Given the description of an element on the screen output the (x, y) to click on. 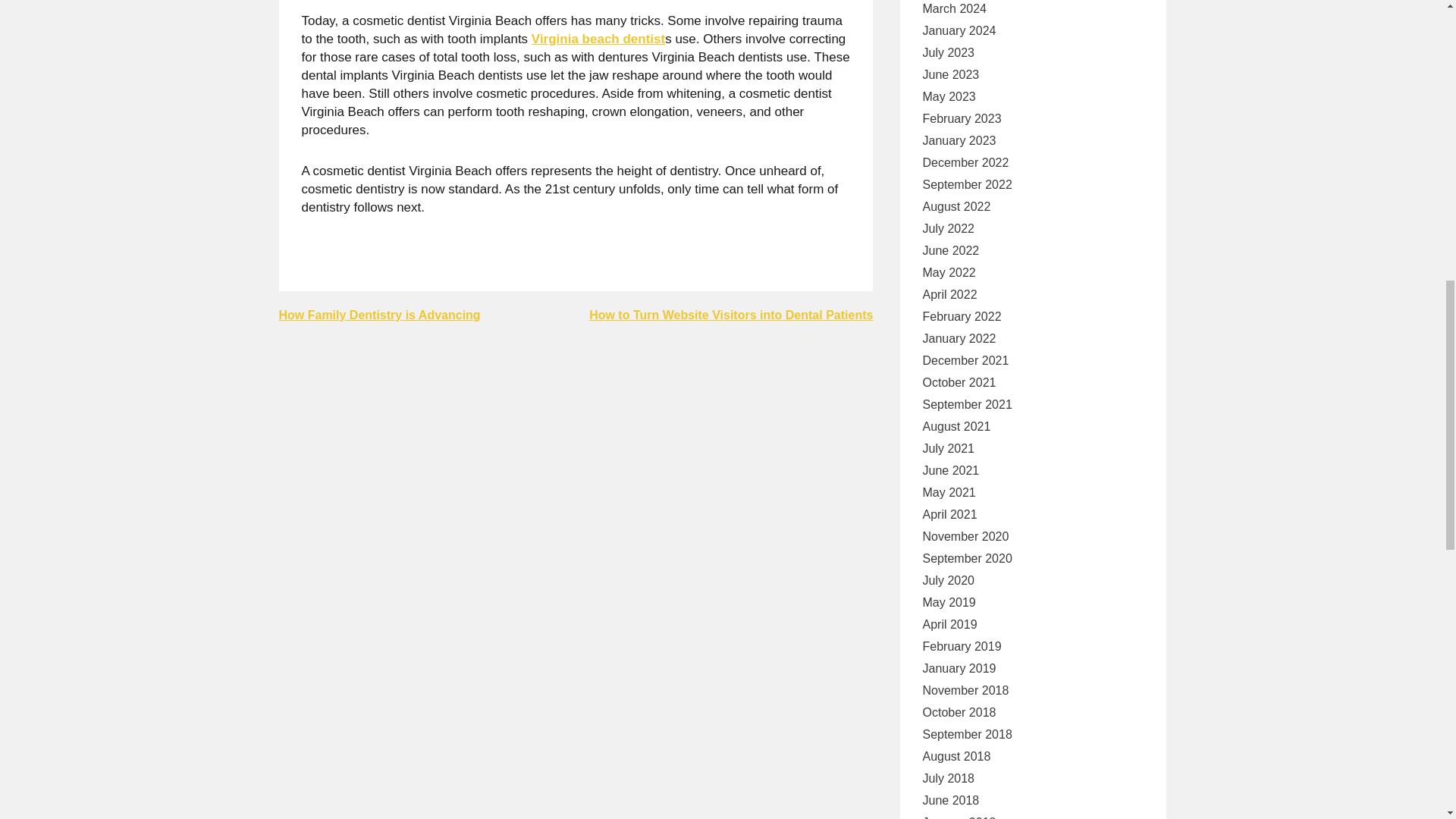
July 2023 (947, 53)
January 2022 (958, 339)
August 2022 (955, 207)
July 2022 (947, 229)
March 2024 (954, 9)
September 2022 (966, 185)
June 2022 (949, 250)
Tooth implants virginia beach (598, 38)
May 2023 (948, 96)
How Family Dentistry is Advancing (379, 314)
February 2022 (961, 316)
Virginia beach dentist (598, 38)
May 2022 (948, 272)
February 2023 (961, 118)
January 2024 (958, 31)
